Given the description of an element on the screen output the (x, y) to click on. 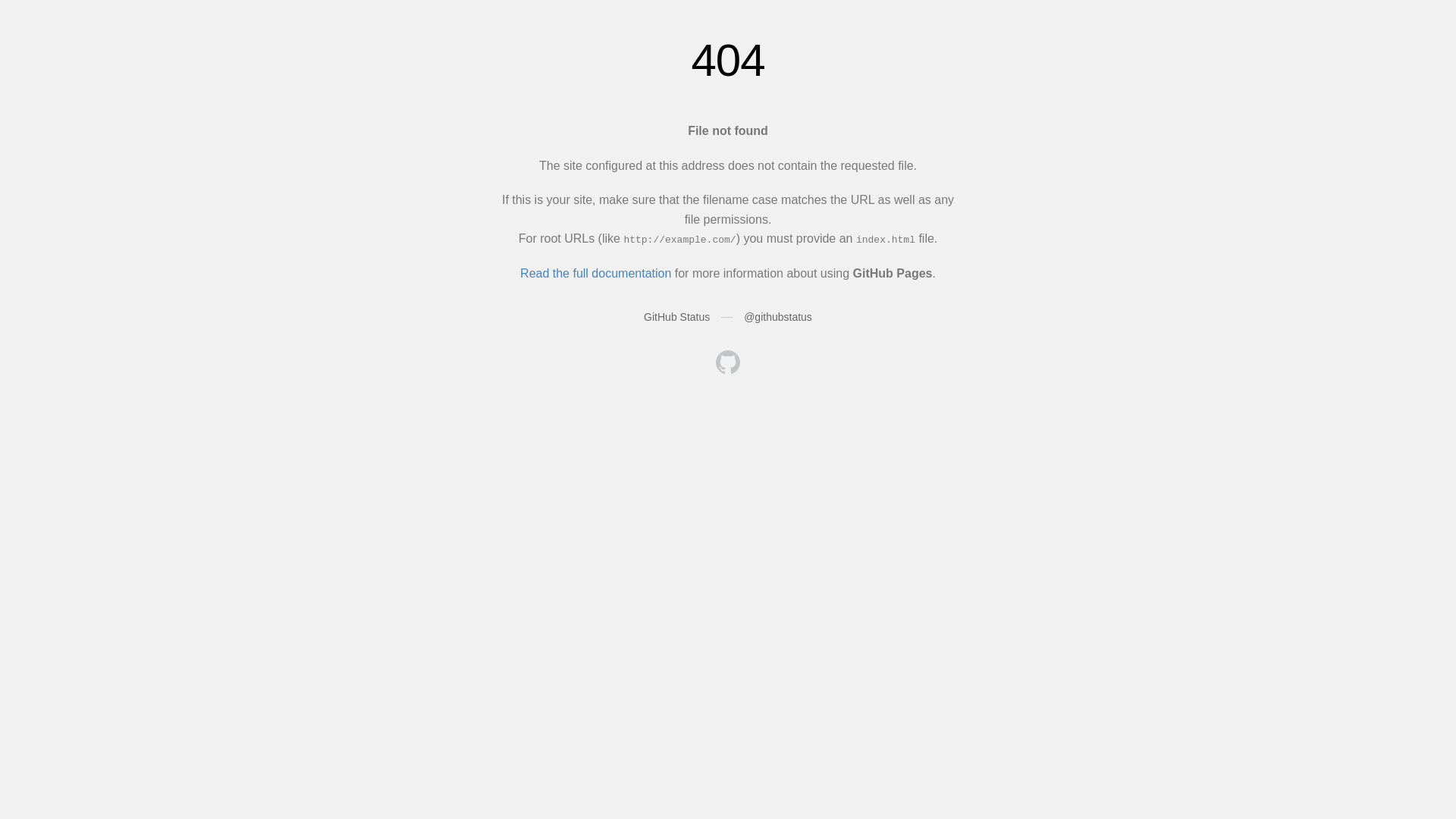
Read the full documentation Element type: text (595, 272)
@githubstatus Element type: text (777, 316)
GitHub Status Element type: text (676, 316)
